Given the description of an element on the screen output the (x, y) to click on. 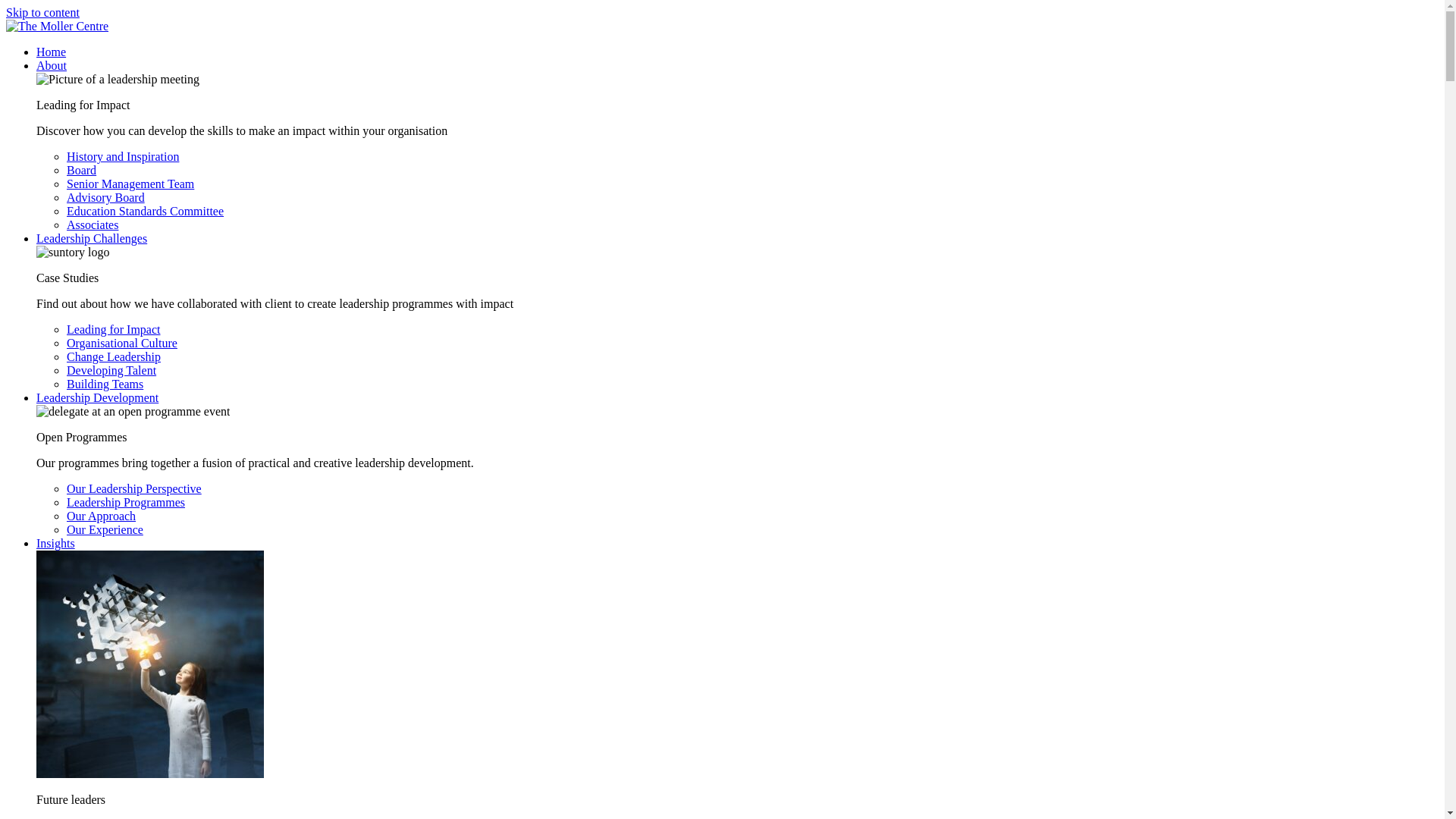
Senior Management Team (129, 183)
Associates (91, 224)
About (51, 65)
Change Leadership (113, 356)
Our Approach (100, 515)
Leading for Impact (113, 328)
Insights (55, 543)
Leadership Development (97, 397)
Our Leadership Perspective (134, 488)
Home (50, 51)
Our Experience (104, 529)
Leadership Challenges (91, 237)
History and Inspiration (122, 155)
Developing Talent (110, 369)
Board (81, 169)
